Given the description of an element on the screen output the (x, y) to click on. 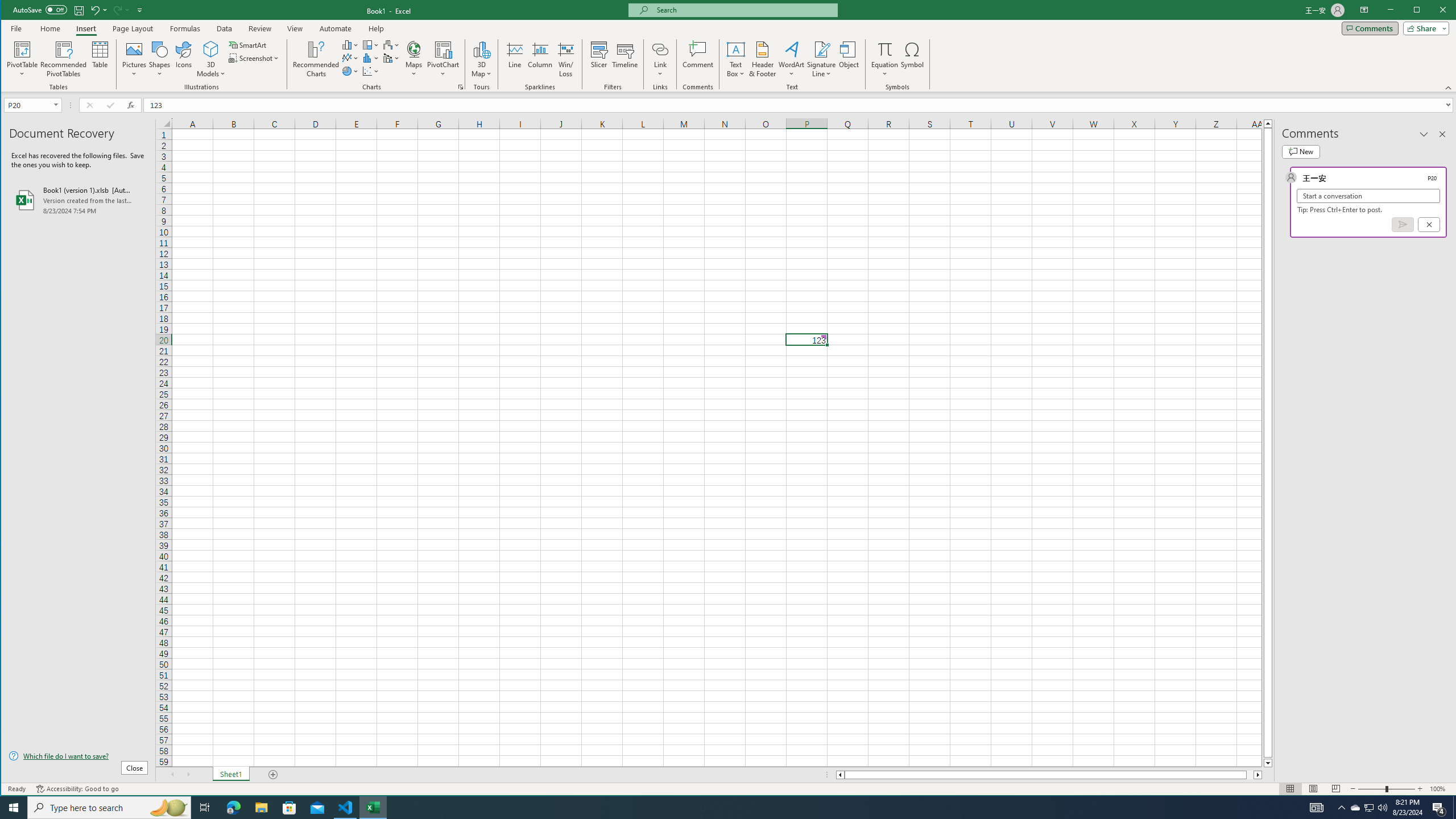
Icons (183, 59)
Task View (204, 807)
Insert Column or Bar Chart (350, 44)
Microsoft Edge (233, 807)
Link (659, 59)
PivotTable (22, 48)
Type here to search (108, 807)
AutomationID: 4105 (1316, 807)
Maximize (1368, 807)
